Given the description of an element on the screen output the (x, y) to click on. 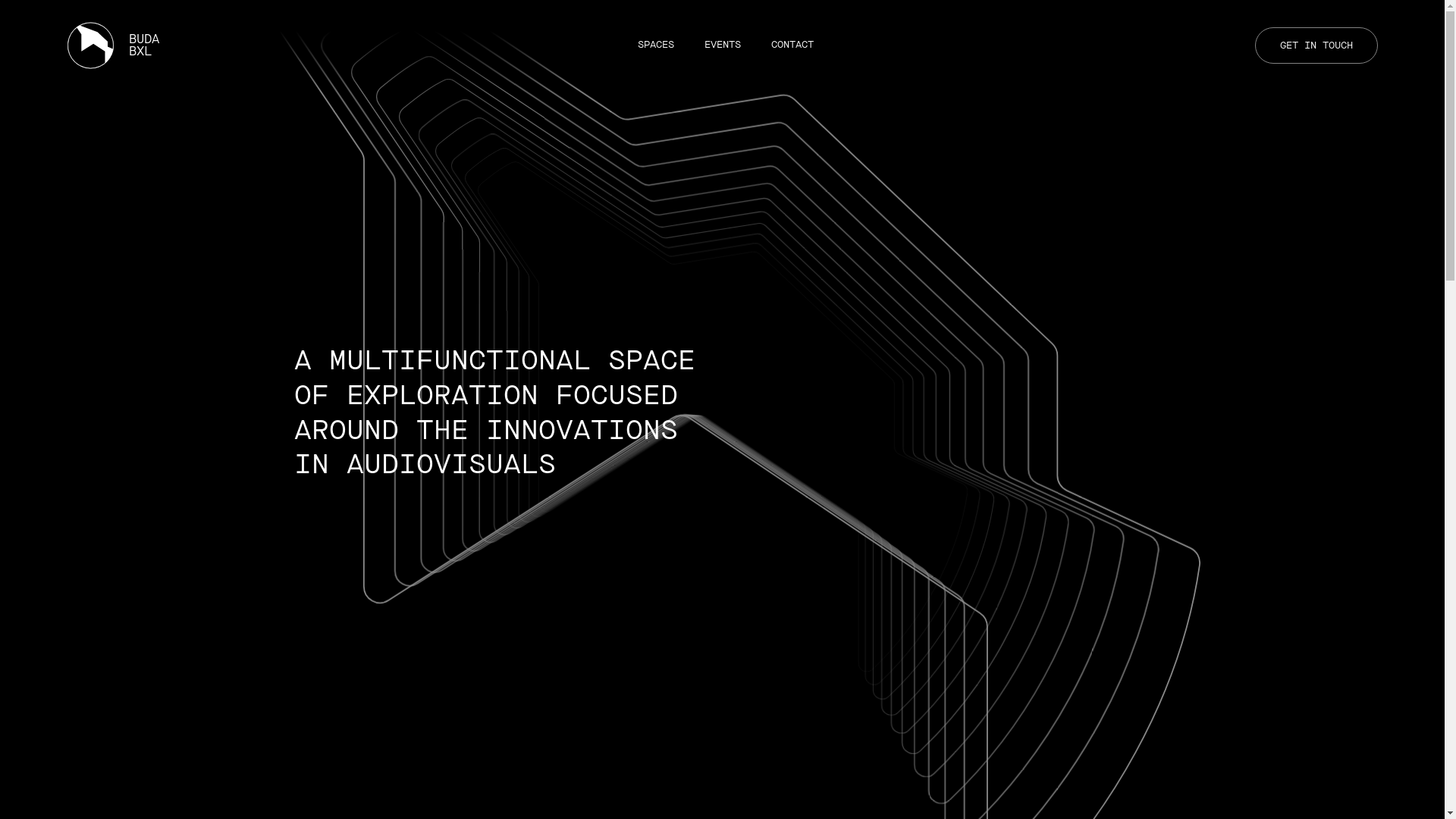
BUDA
BXL Element type: text (130, 45)
GET IN TOUCH Element type: text (1315, 45)
CONTACT Element type: text (791, 44)
SPACES Element type: text (654, 44)
EVENTS Element type: text (721, 44)
